Given the description of an element on the screen output the (x, y) to click on. 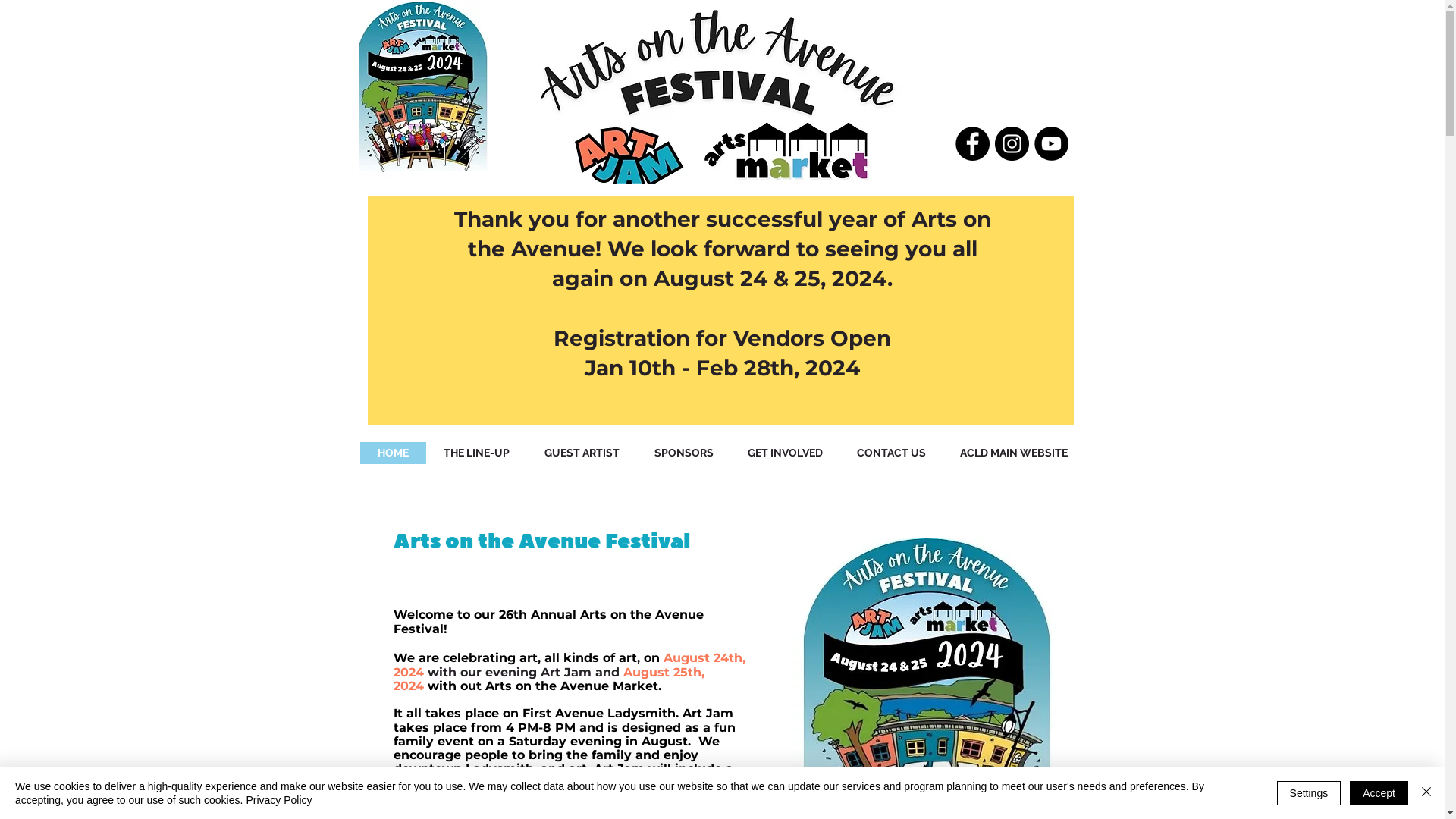
HOME Element type: text (392, 453)
Accept Element type: text (1378, 793)
Settings Element type: text (1309, 793)
CONTACT US Element type: text (891, 453)
ACLD MAIN WEBSITE Element type: text (1014, 453)
GUEST ARTIST Element type: text (581, 453)
Privacy Policy Element type: text (278, 799)
SPONSORS Element type: text (684, 453)
